Given the description of an element on the screen output the (x, y) to click on. 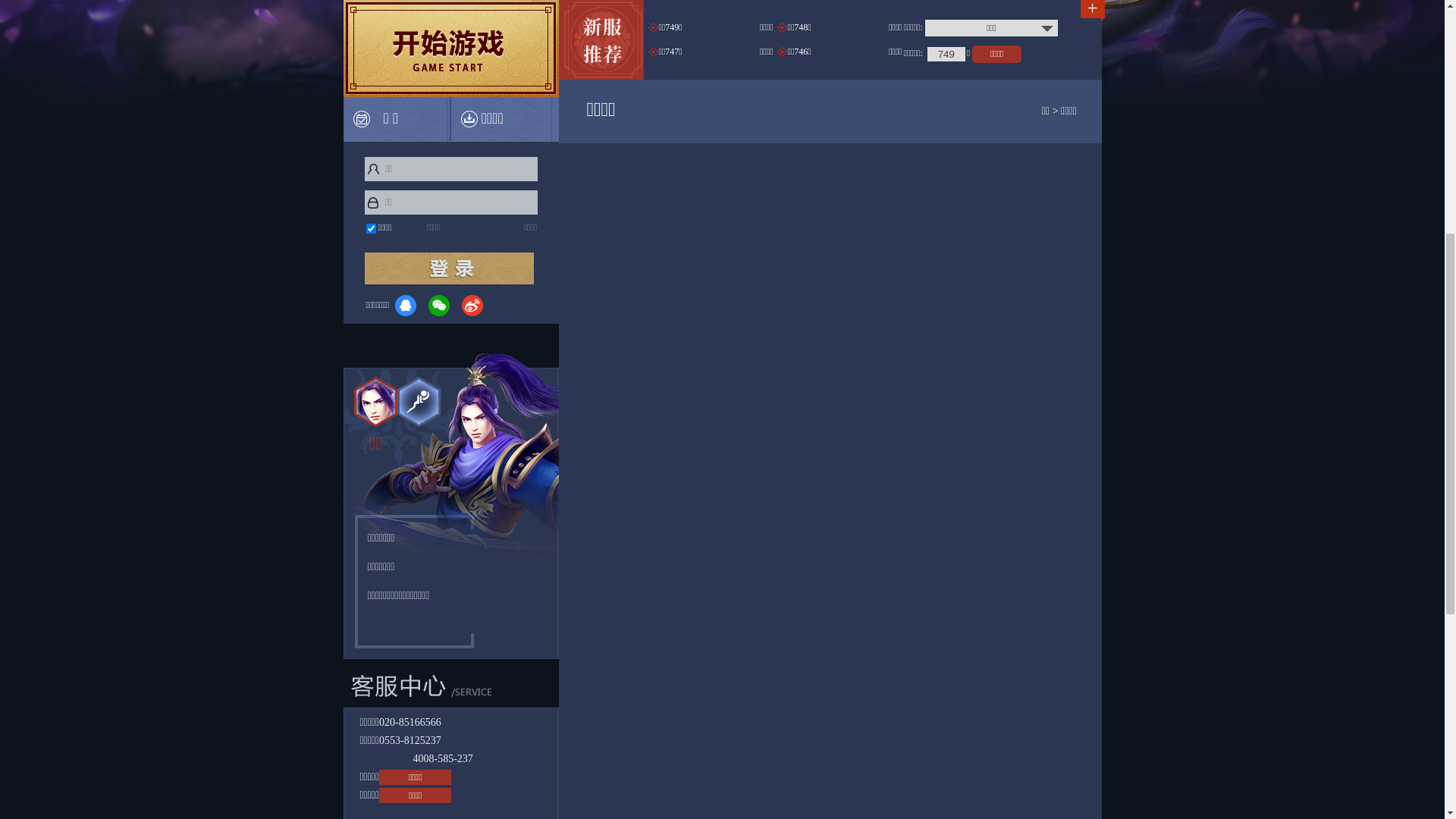
+ Element type: text (1091, 487)
